Given the description of an element on the screen output the (x, y) to click on. 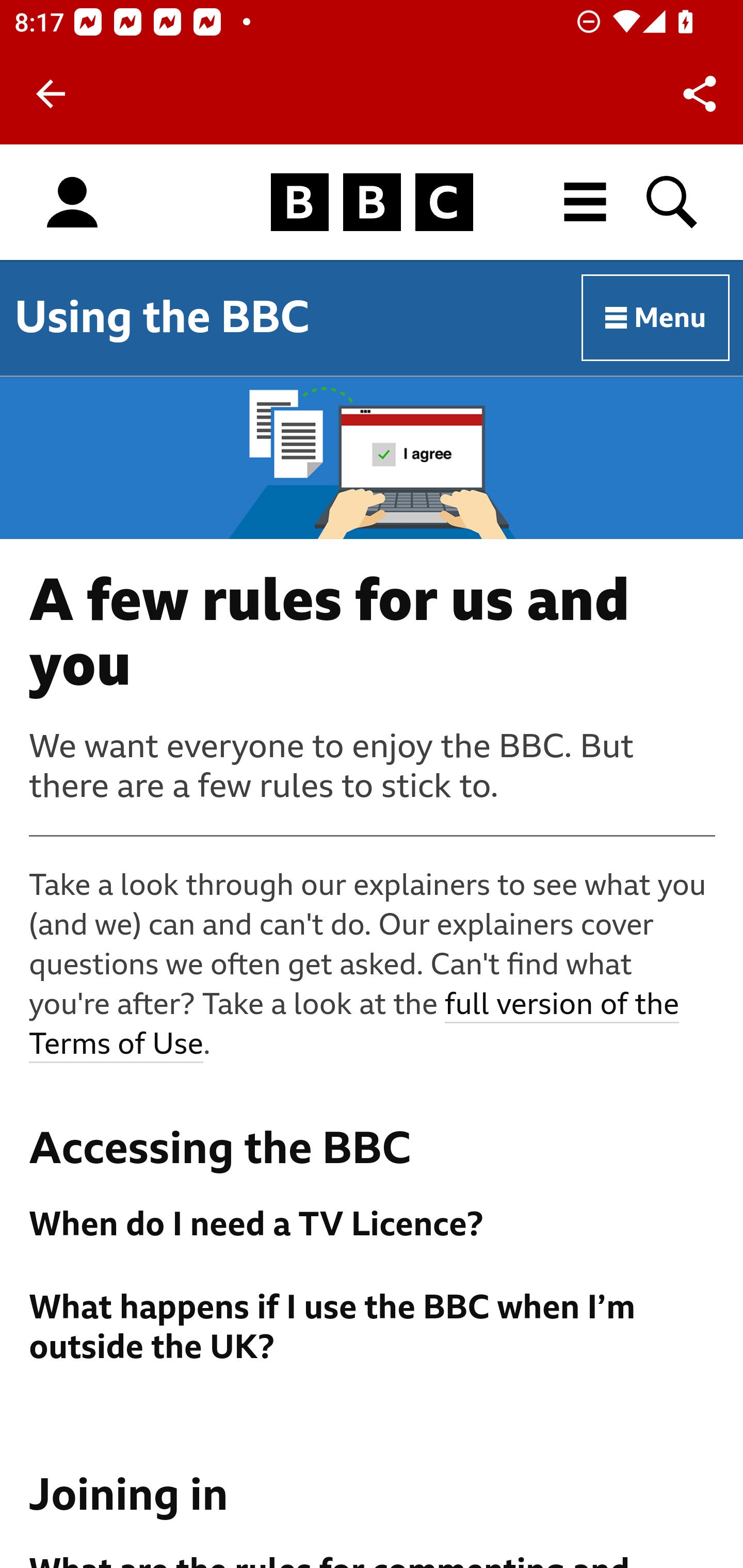
Back (50, 93)
Share (699, 93)
All BBC destinations menu (585, 202)
Search BBC (672, 202)
Sign in (71, 203)
Homepage (371, 203)
Menu (656, 318)
Using the BBC (162, 317)
full version of the Terms of Use (354, 1025)
When do I need a TV Licence? (372, 1224)
